Given the description of an element on the screen output the (x, y) to click on. 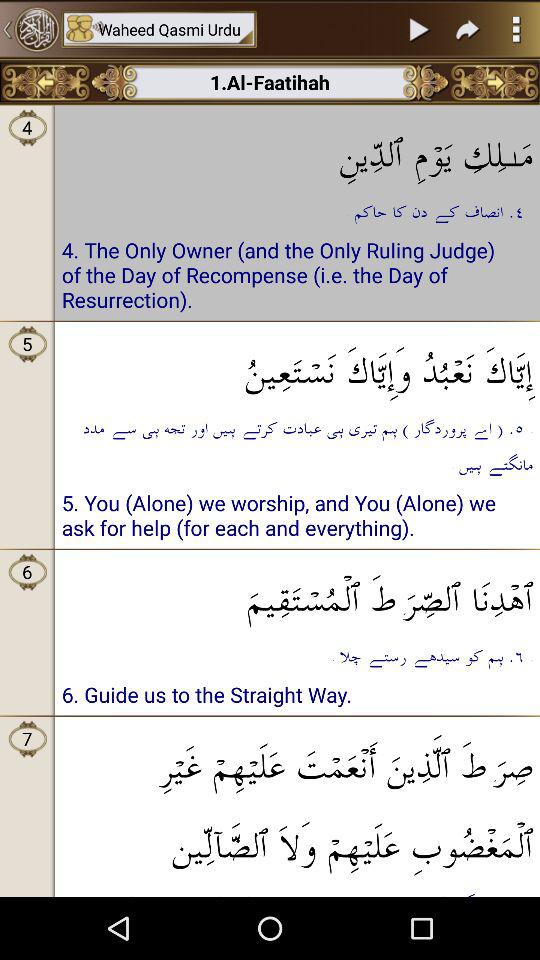
play selected (420, 29)
